Given the description of an element on the screen output the (x, y) to click on. 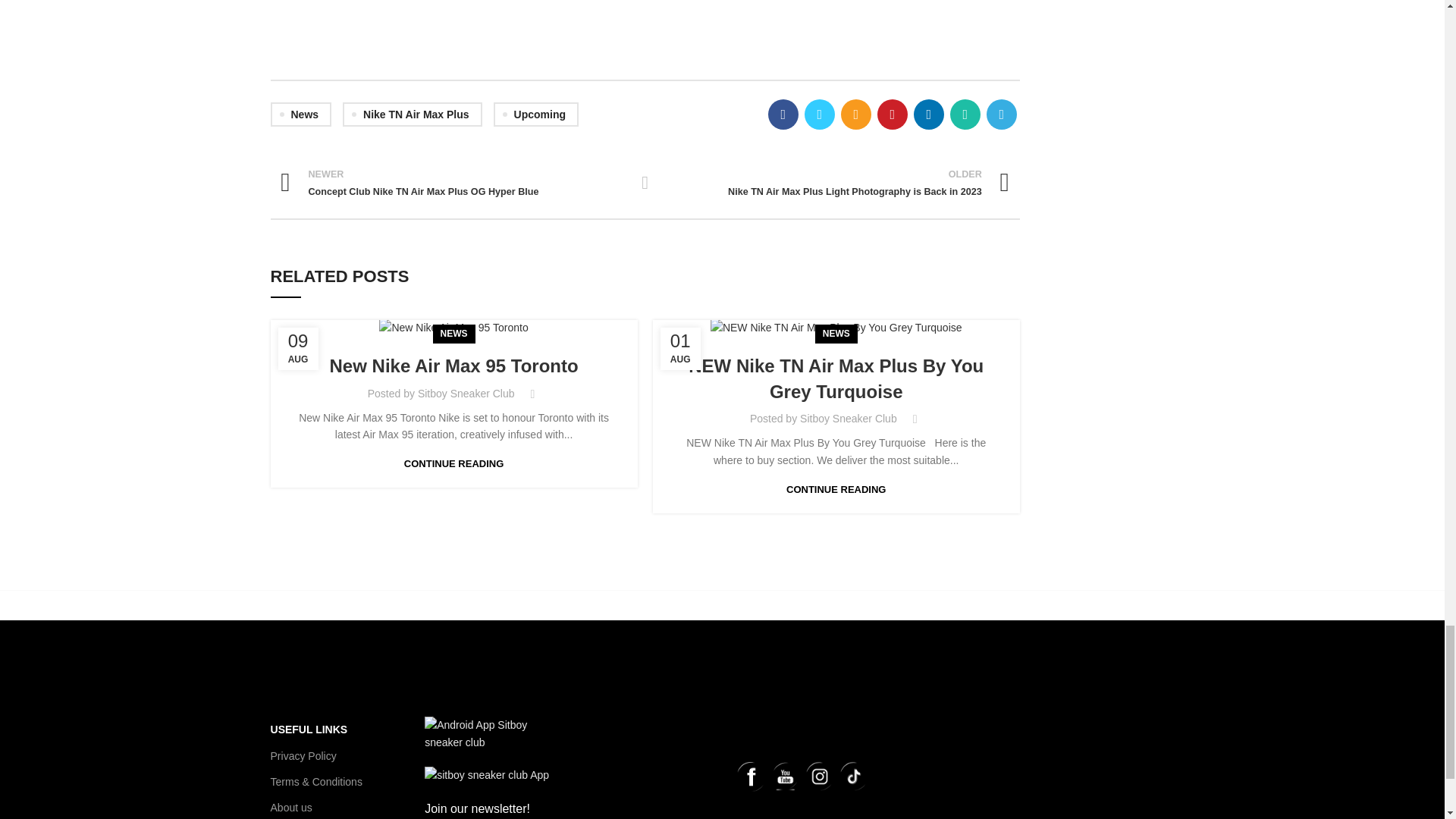
The Nike TN Air Max Plus OG Hyper Blue Returns in 2024 (644, 17)
NEW Nike TN Air Max Plus By You Grey Turquoise (836, 327)
New Nike Air Max 95 Toronto (452, 327)
